Given the description of an element on the screen output the (x, y) to click on. 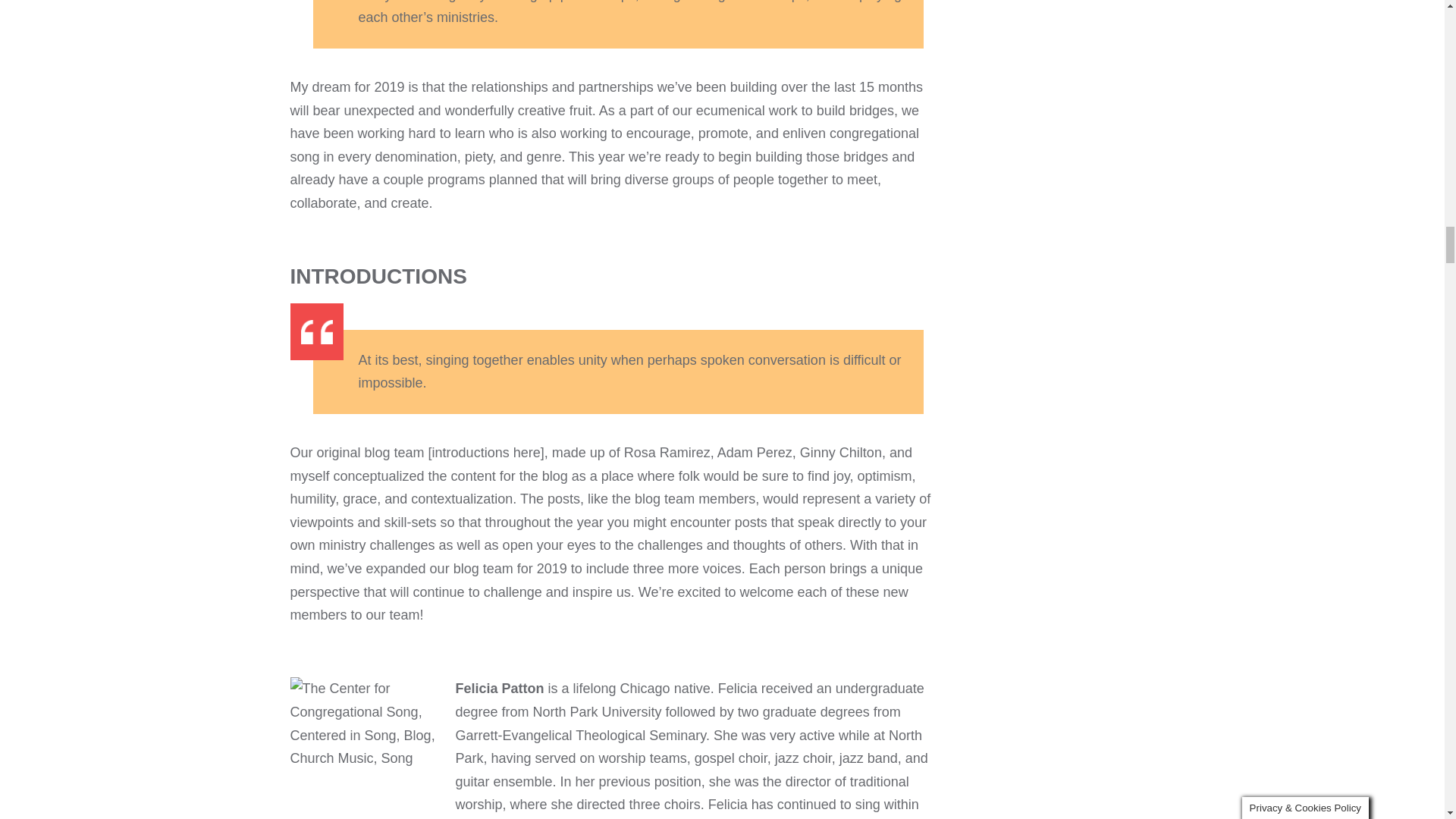
introductions here (486, 452)
